Given the description of an element on the screen output the (x, y) to click on. 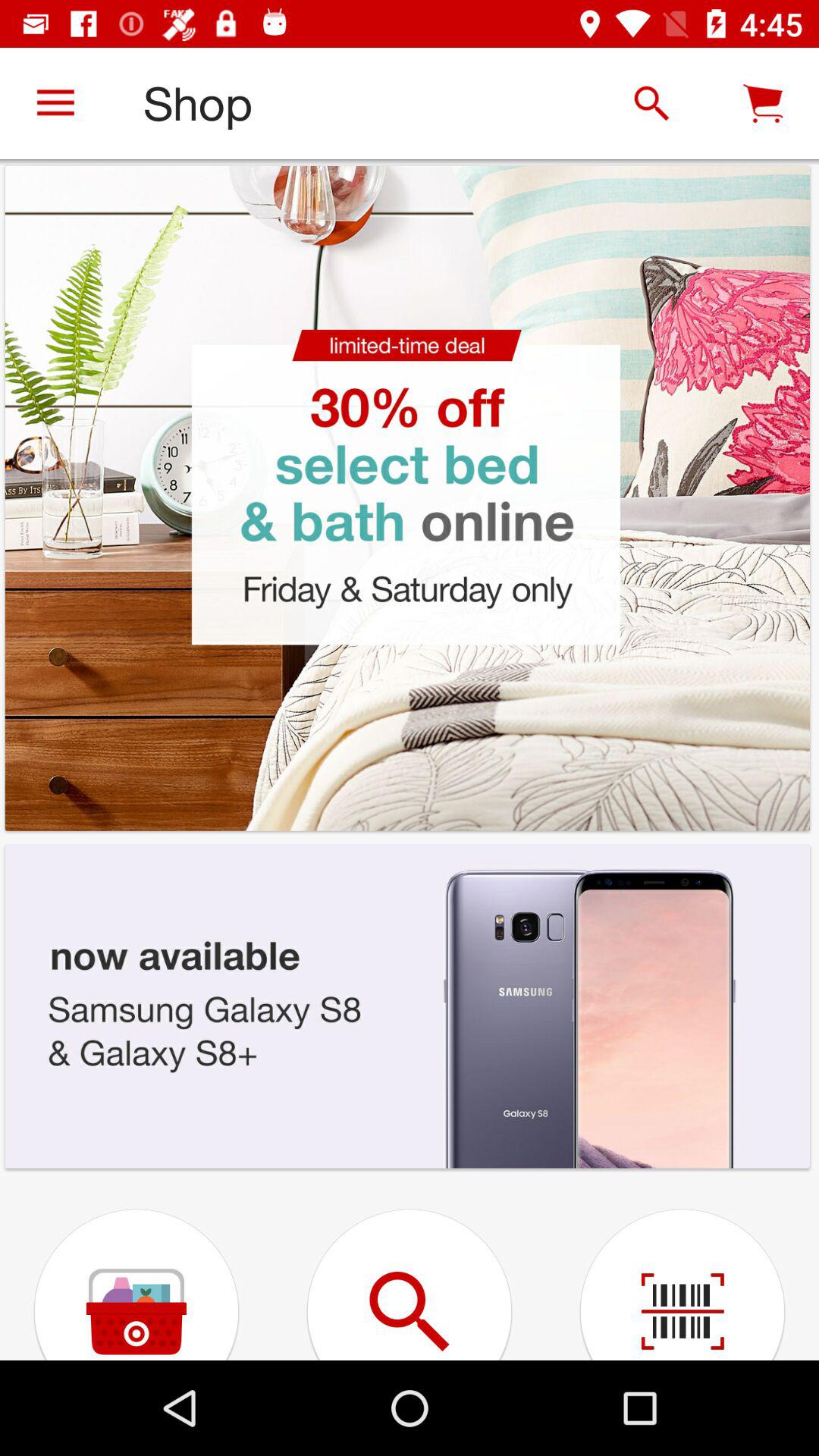
select the cart icon right to the search icon (763, 103)
click on search button which is in bottom of the page (409, 1266)
click the search icon (651, 103)
click on the samsung phone image (406, 1006)
select the barcode icon (682, 1266)
click on the left of barcode (409, 1266)
